Given the description of an element on the screen output the (x, y) to click on. 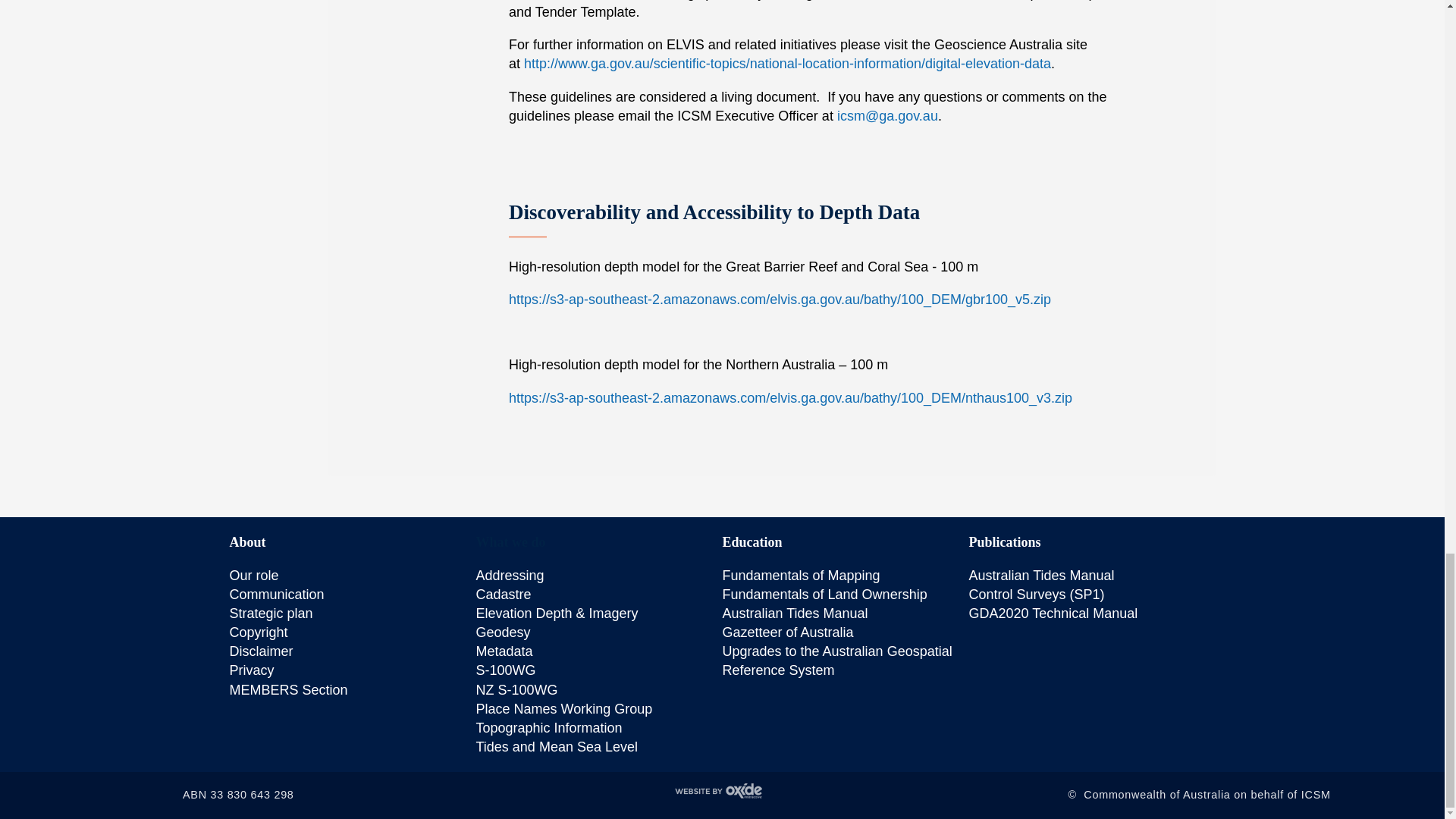
Geodesy (503, 631)
Elevation, Depth and Imagery Working Group (557, 613)
Tides and Sea Level (556, 746)
Metadata Working Group (504, 651)
S-100 Working Group (505, 670)
Cadastre Working Group (503, 594)
Addressing (510, 574)
Topographic Information (549, 727)
